Given the description of an element on the screen output the (x, y) to click on. 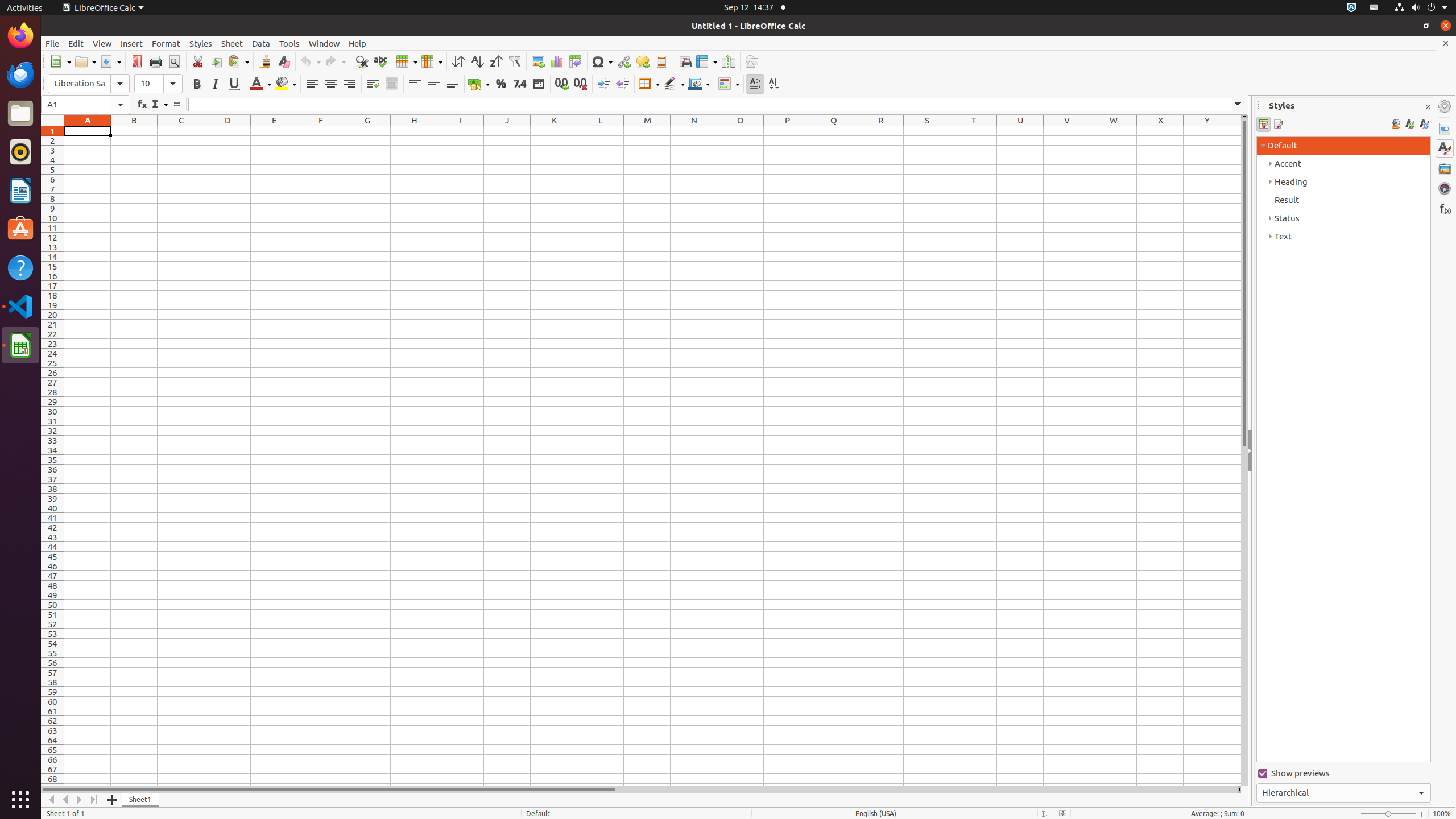
Update Style Element type: push-button (1423, 123)
Rhythmbox Element type: push-button (20, 151)
Properties Element type: radio-button (1444, 128)
Ubuntu Software Element type: push-button (20, 229)
H1 Element type: table-cell (413, 130)
